Given the description of an element on the screen output the (x, y) to click on. 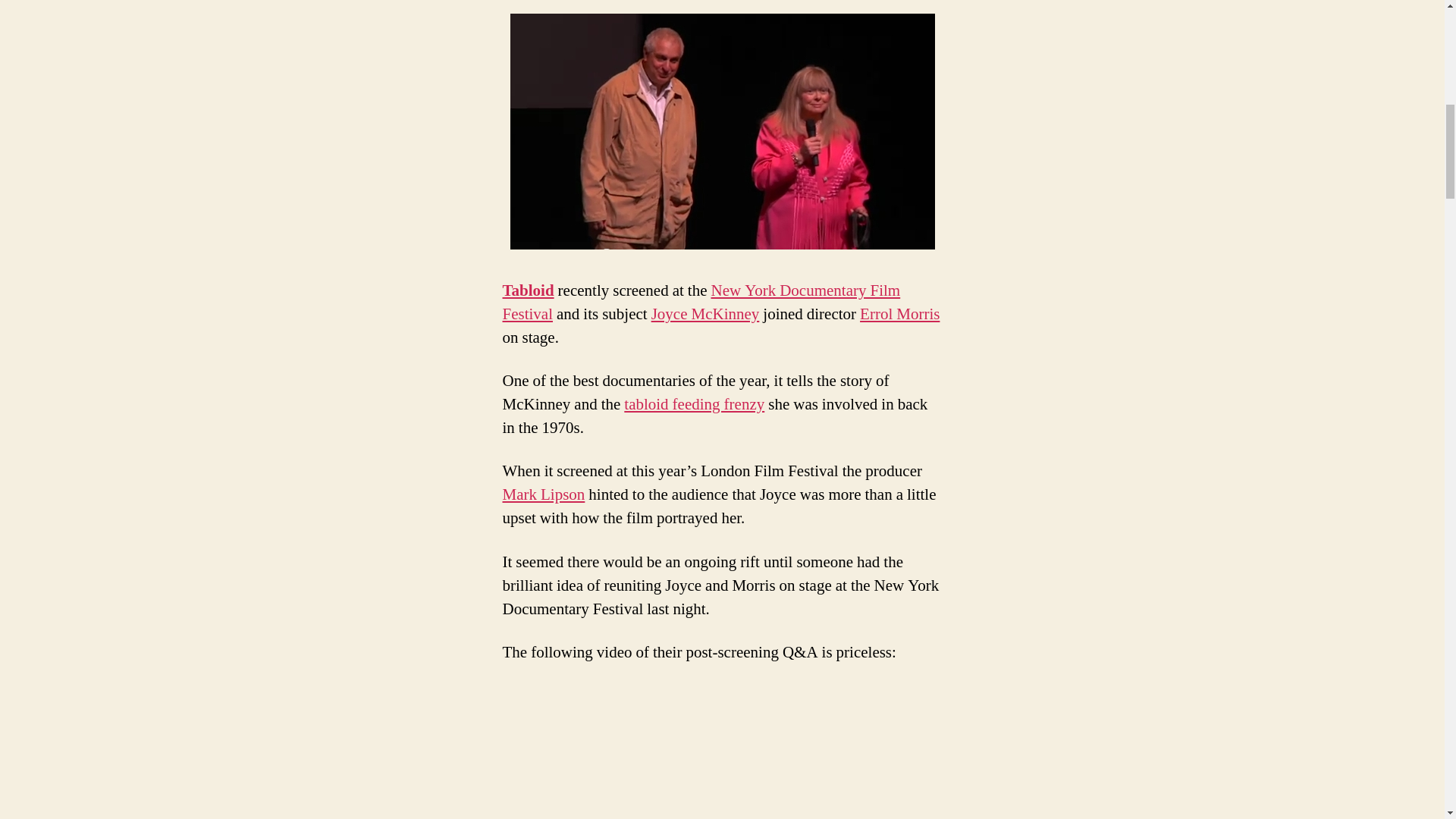
Errol Morris (899, 313)
Errol Morris and Joyce McKinney at DOC NYC 2010 (721, 131)
New York Documentary Film Festival (700, 302)
tabloid feeding frenzy (694, 403)
Tabloid (527, 290)
Mark Lipson (543, 494)
Joyce McKinney (705, 313)
